Given the description of an element on the screen output the (x, y) to click on. 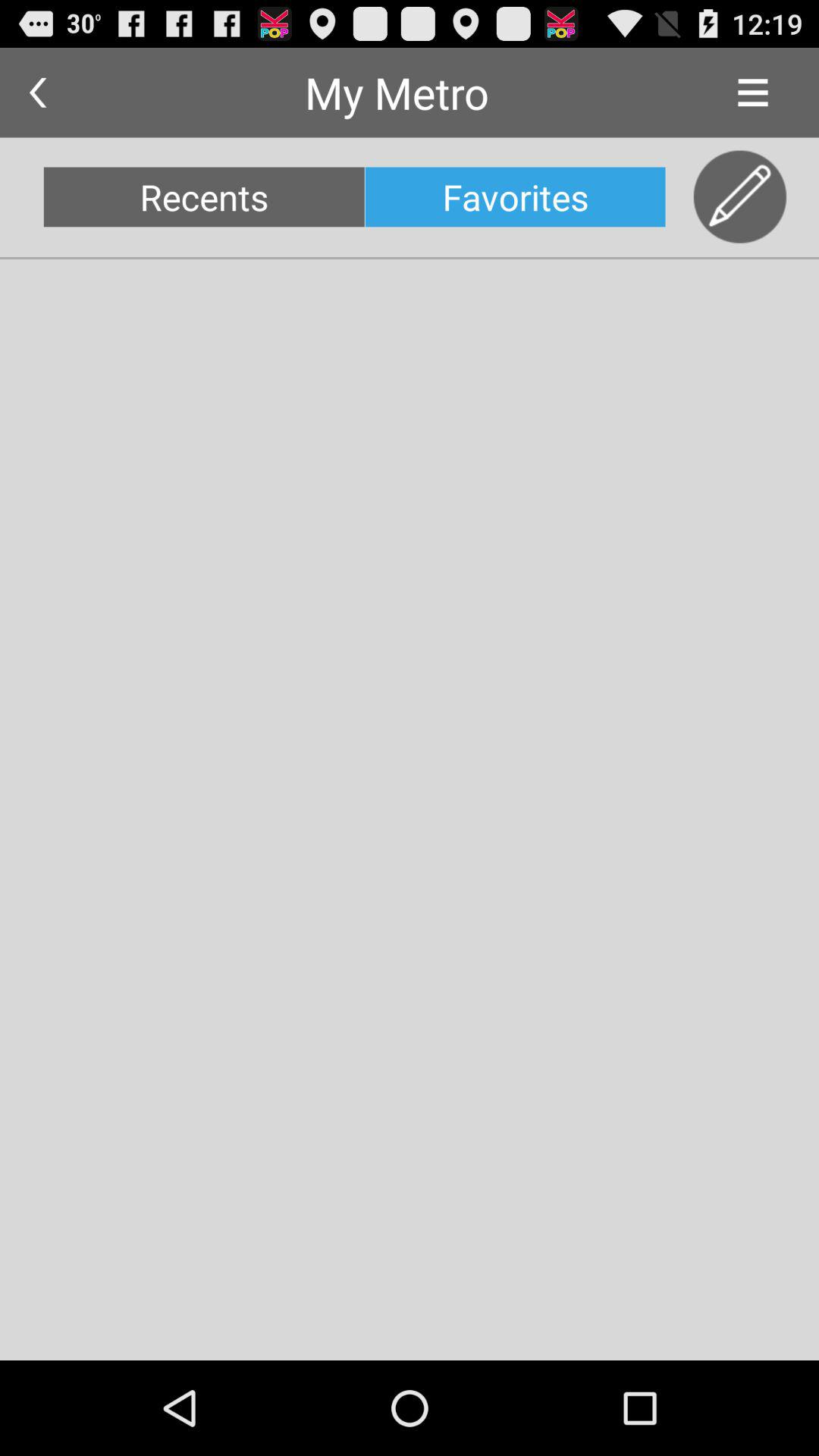
launch icon below my metro item (515, 196)
